Given the description of an element on the screen output the (x, y) to click on. 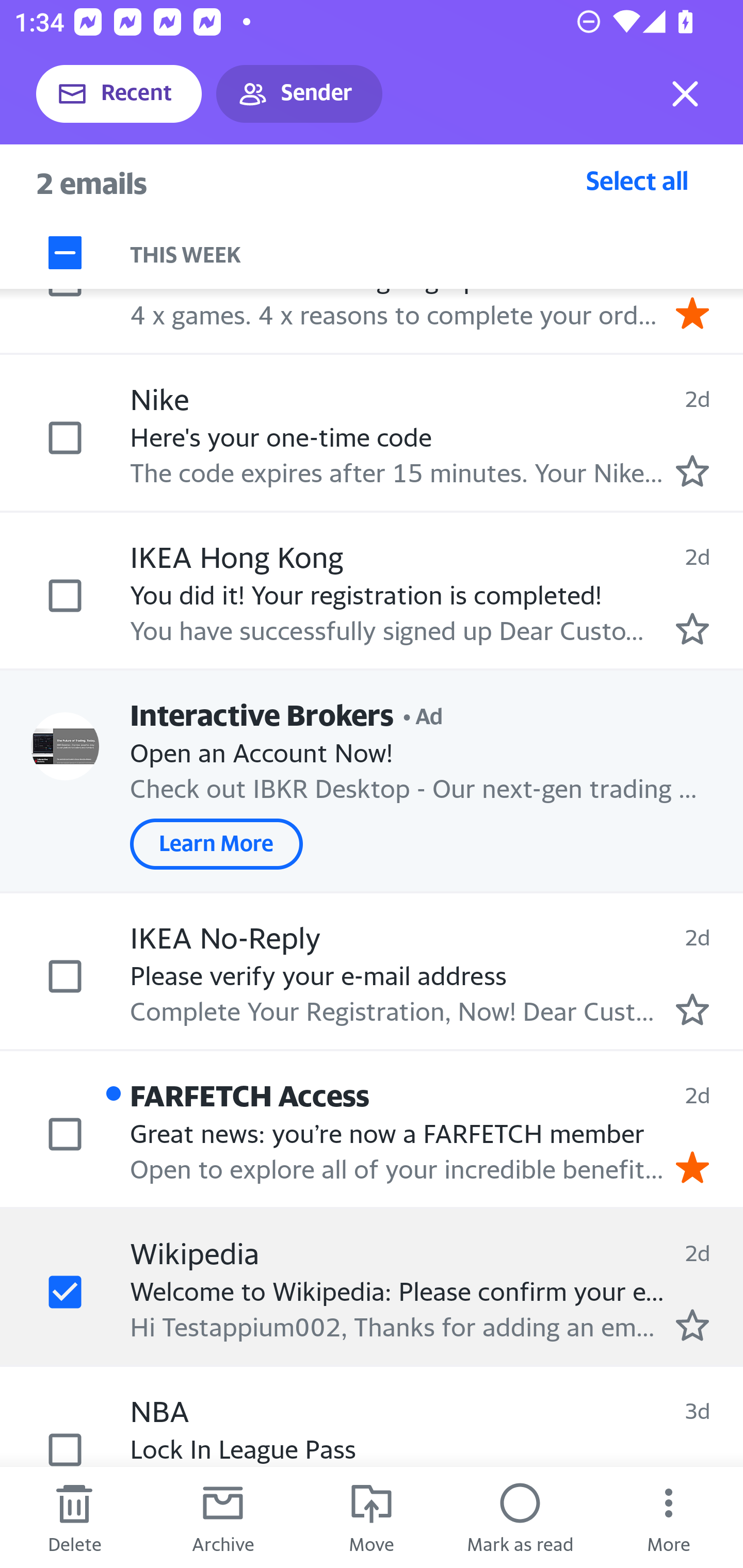
Sender (299, 93)
Exit selection mode (684, 93)
Select all (637, 180)
Remove star. (692, 312)
Mark as starred. (692, 471)
Mark as starred. (692, 627)
Mark as starred. (692, 1008)
Remove star. (692, 1167)
Mark as starred. (692, 1325)
Delete (74, 1517)
Archive (222, 1517)
Move (371, 1517)
Mark as read (519, 1517)
More (668, 1517)
